Given the description of an element on the screen output the (x, y) to click on. 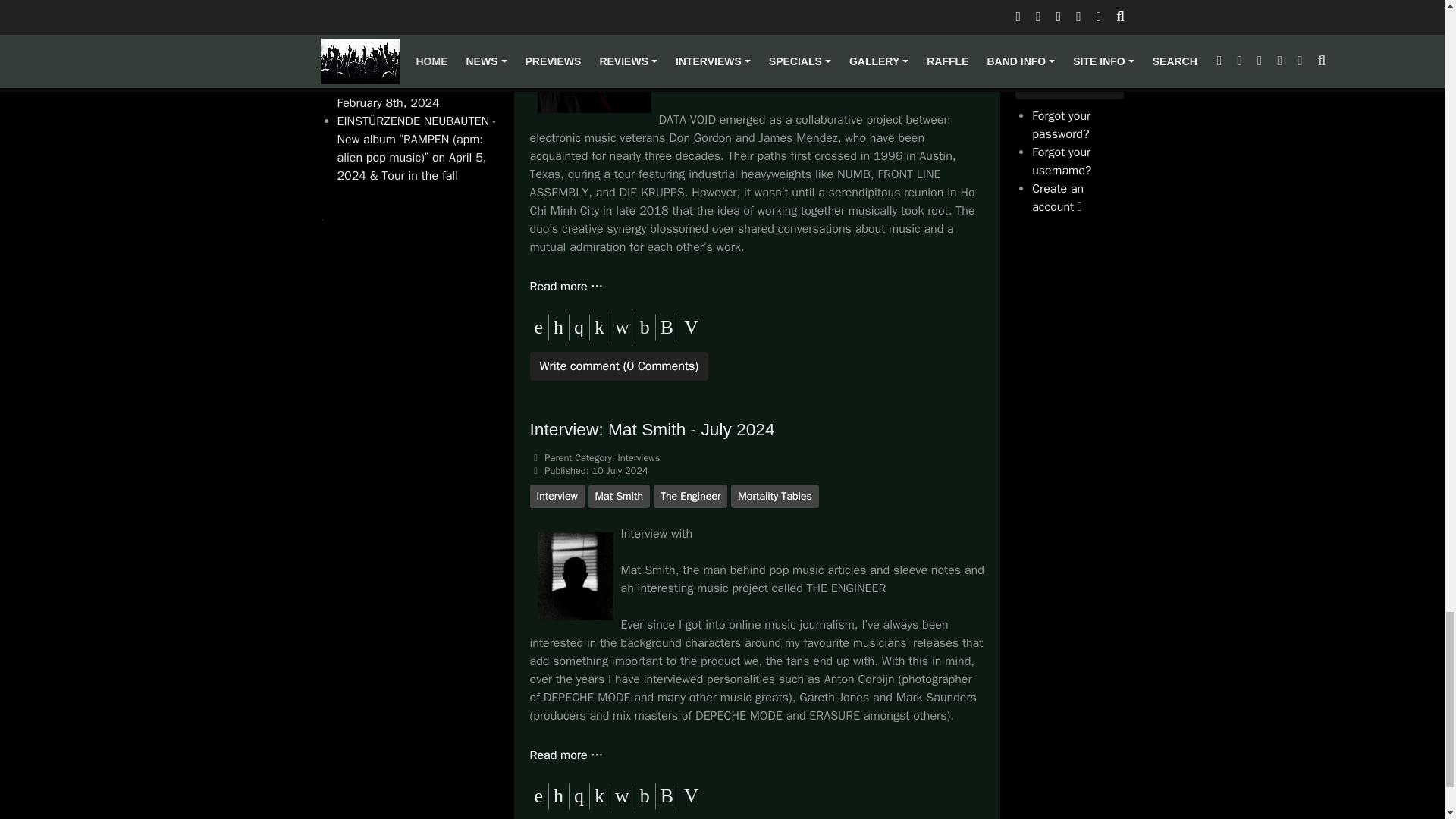
yes (1020, 6)
